Given the description of an element on the screen output the (x, y) to click on. 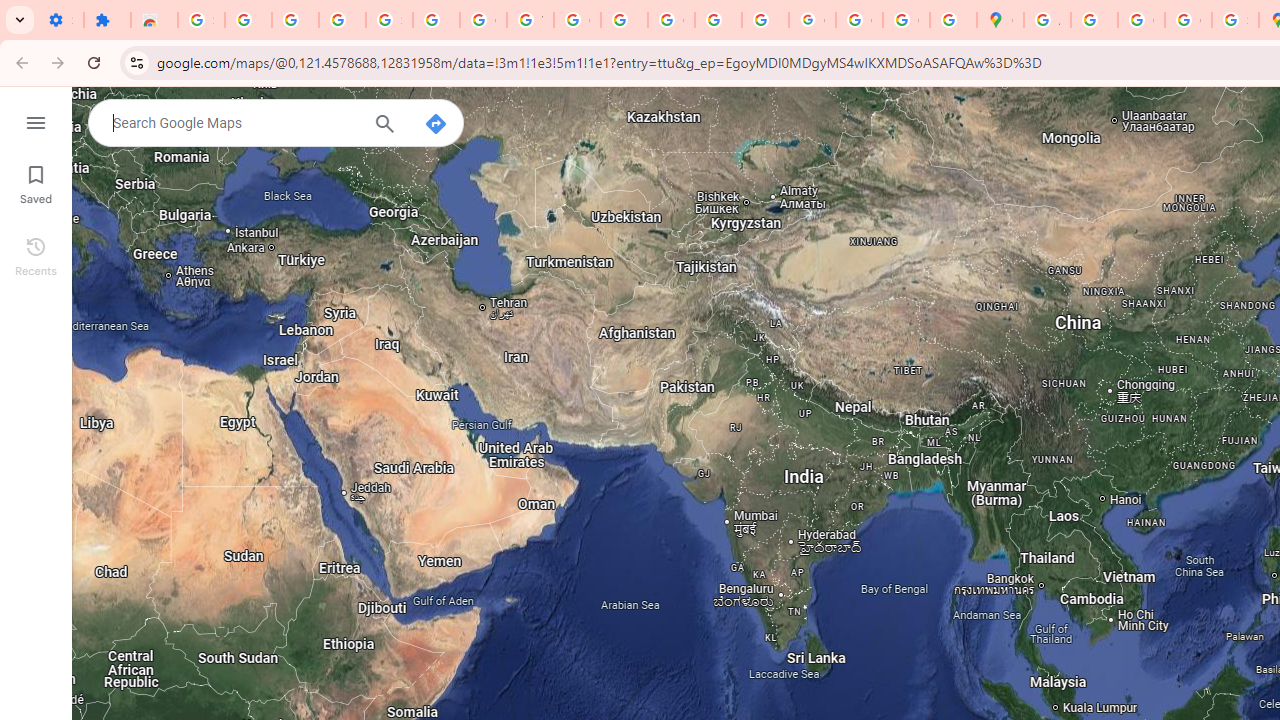
Reviews: Helix Fruit Jump Arcade Game (153, 20)
Create your Google Account (1140, 20)
https://scholar.google.com/ (623, 20)
Google Account (482, 20)
Saved (35, 182)
